Given the description of an element on the screen output the (x, y) to click on. 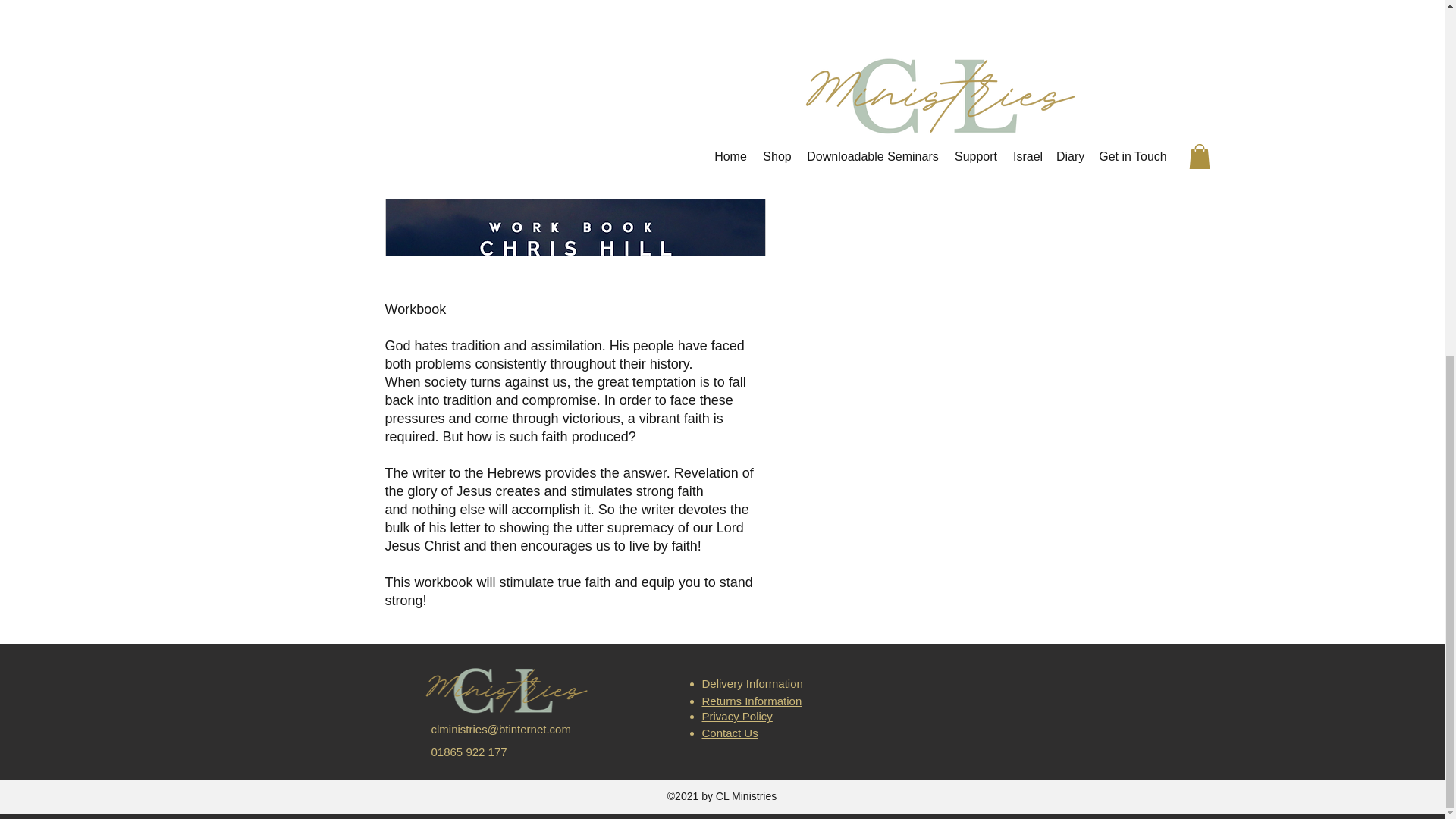
01865 922 177 (468, 751)
Delivery Information (752, 683)
